Given the description of an element on the screen output the (x, y) to click on. 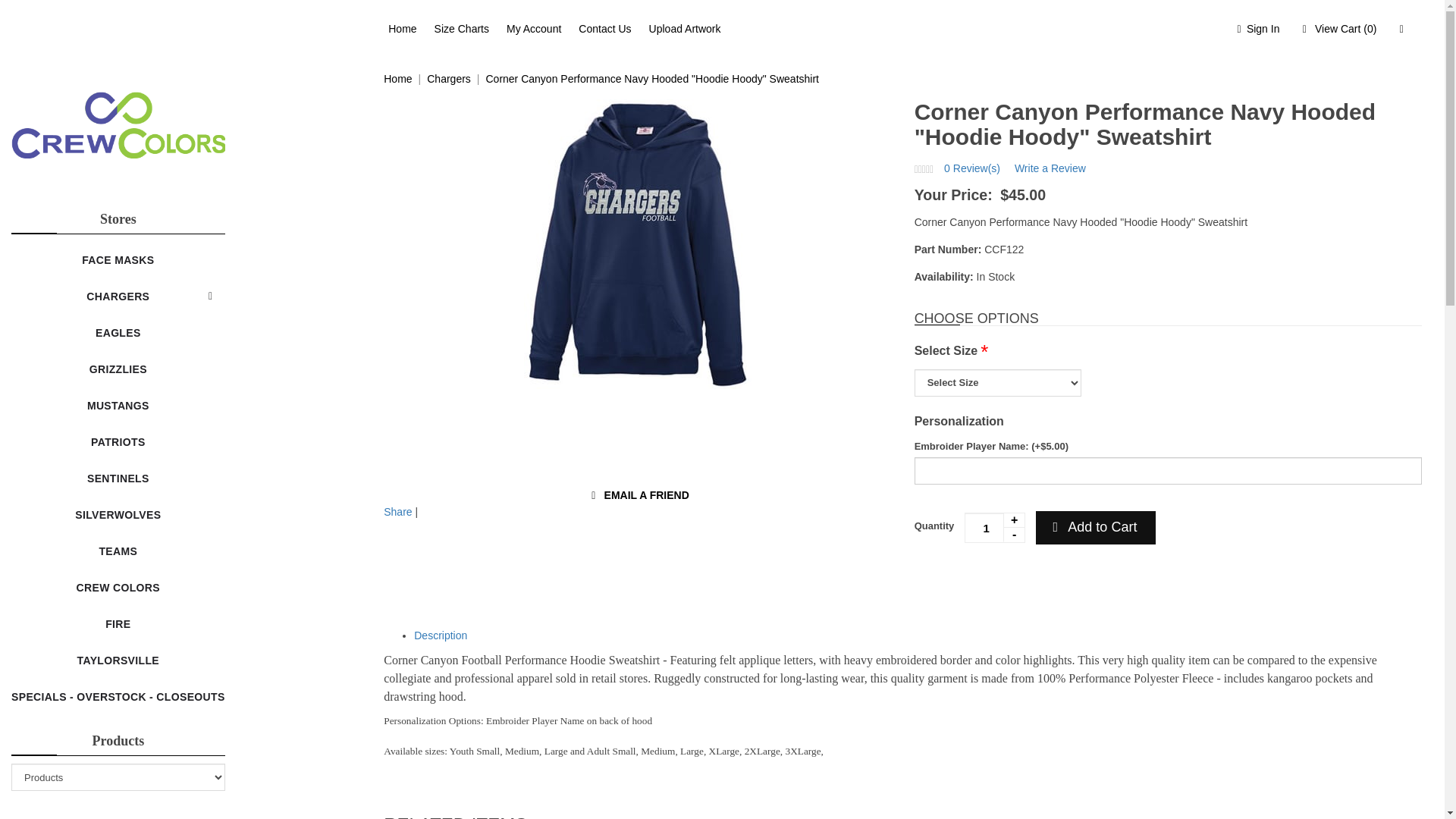
GRIZZLIES (117, 369)
EAGLES (117, 332)
1 (994, 527)
Upload Artwork (685, 28)
MUSTANGS (117, 405)
TEAMS (117, 551)
CHARGERS (117, 296)
Home (398, 78)
SENTINELS (117, 478)
FIRE (117, 624)
